Given the description of an element on the screen output the (x, y) to click on. 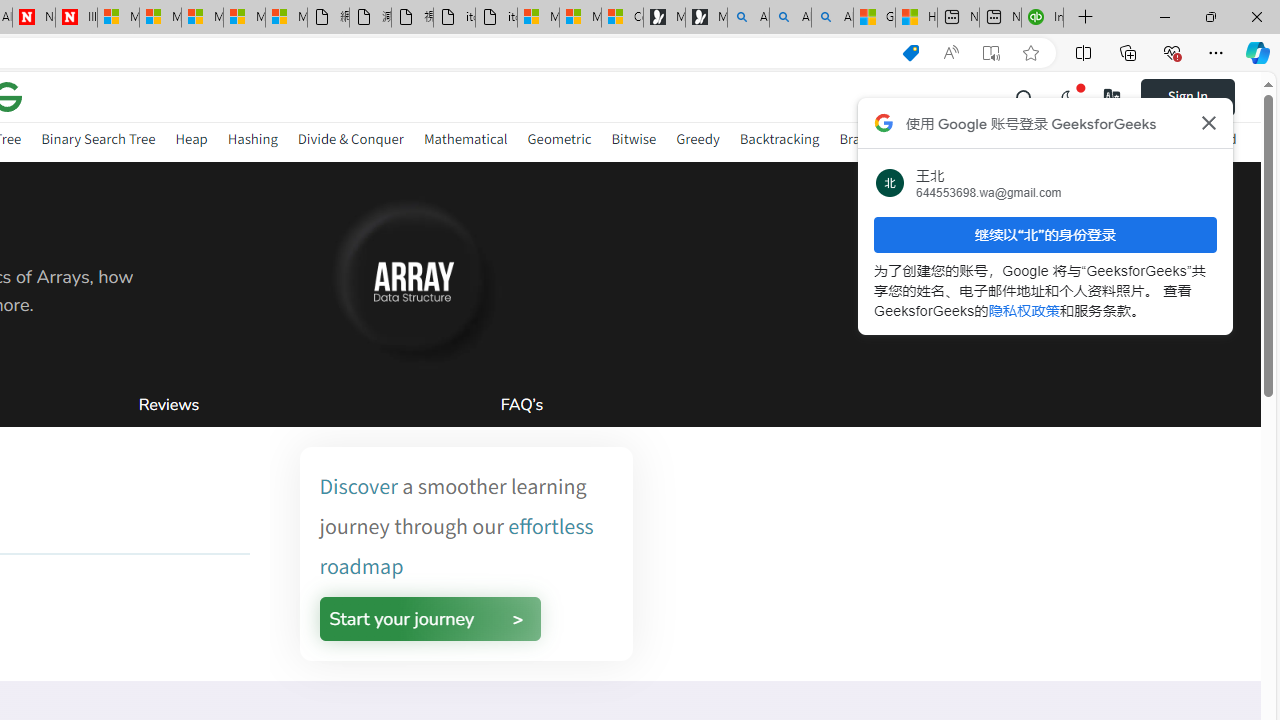
Binary Search Tree (98, 142)
Divide & Conquer (349, 142)
Randomized (1197, 142)
Hashing (252, 142)
